Given the description of an element on the screen output the (x, y) to click on. 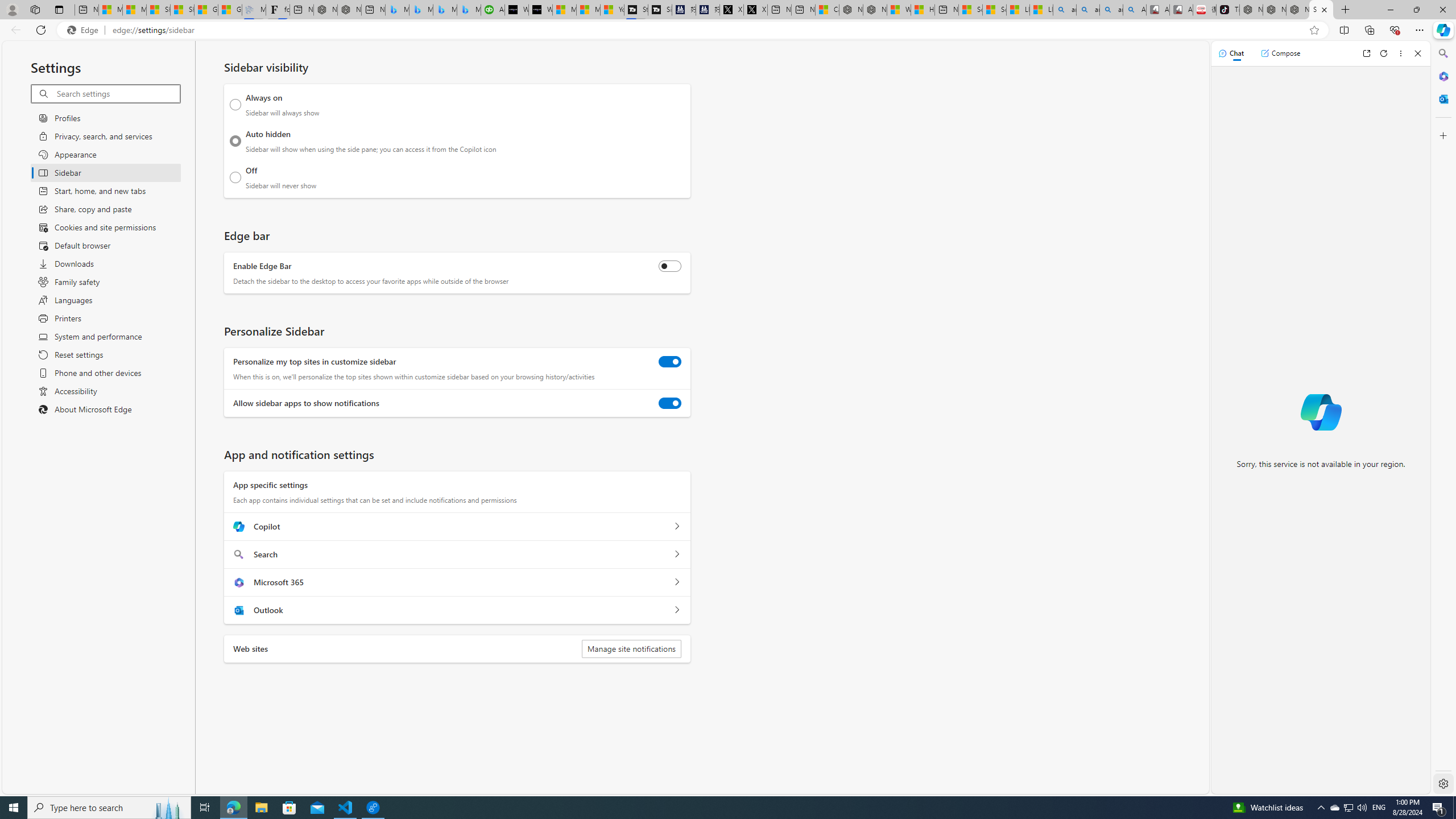
All Cubot phones (1181, 9)
Streaming Coverage | T3 (635, 9)
Allow sidebar apps to show notifications (669, 402)
Amazon Echo Robot - Search Images (1134, 9)
Microsoft Bing Travel - Stays in Bangkok, Bangkok, Thailand (421, 9)
Edge (84, 29)
Manage site notifications (630, 648)
Side bar (1443, 418)
Enable Edge Bar (669, 265)
